Given the description of an element on the screen output the (x, y) to click on. 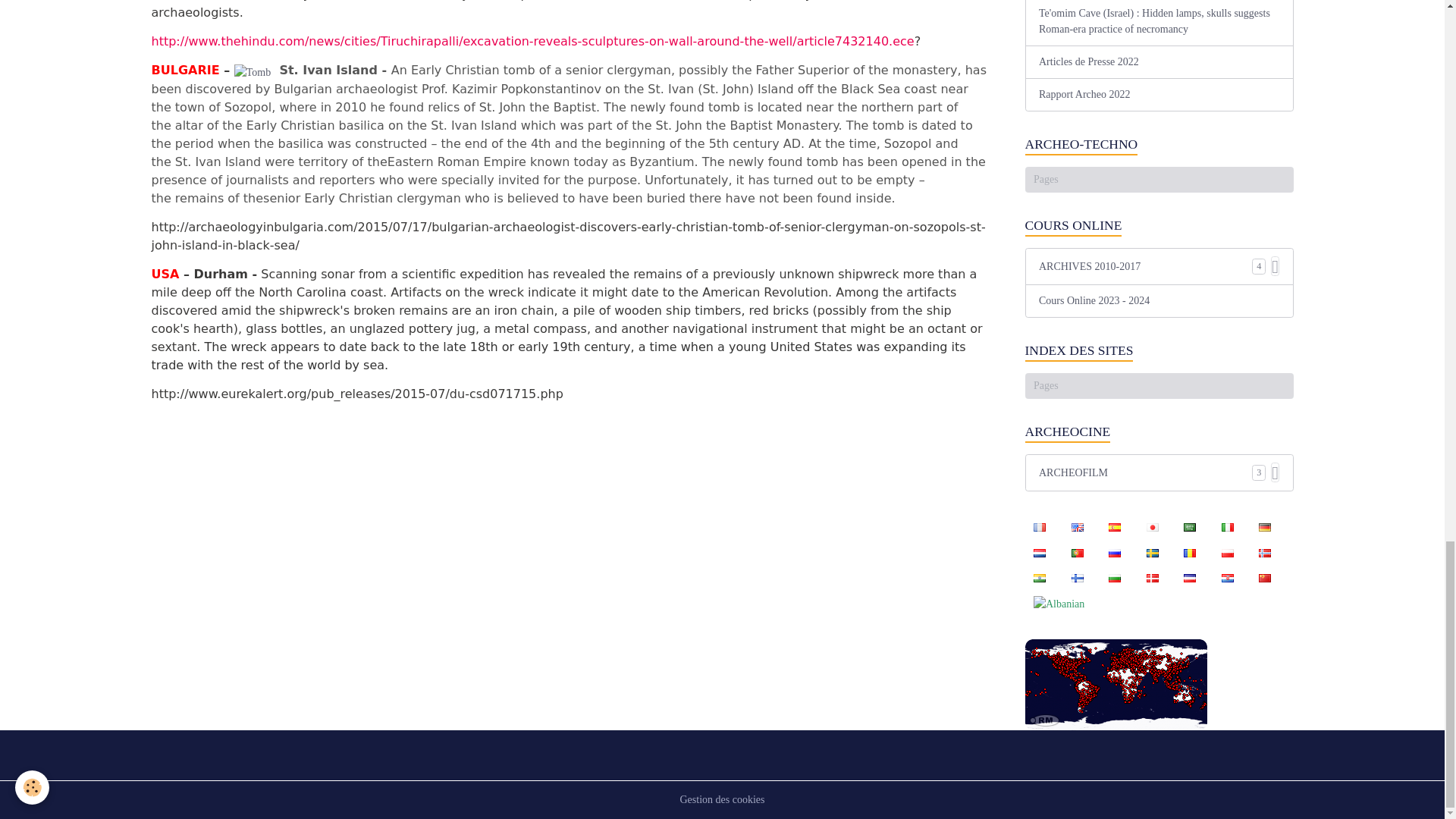
English (1077, 526)
Italiano (1226, 526)
Arabic (1189, 526)
Polish (1226, 551)
Czech (1189, 577)
Norwegian (1264, 551)
Finnish (1077, 577)
Japanese (1152, 526)
Romanian (1189, 551)
Bulgarian (1114, 577)
